Given the description of an element on the screen output the (x, y) to click on. 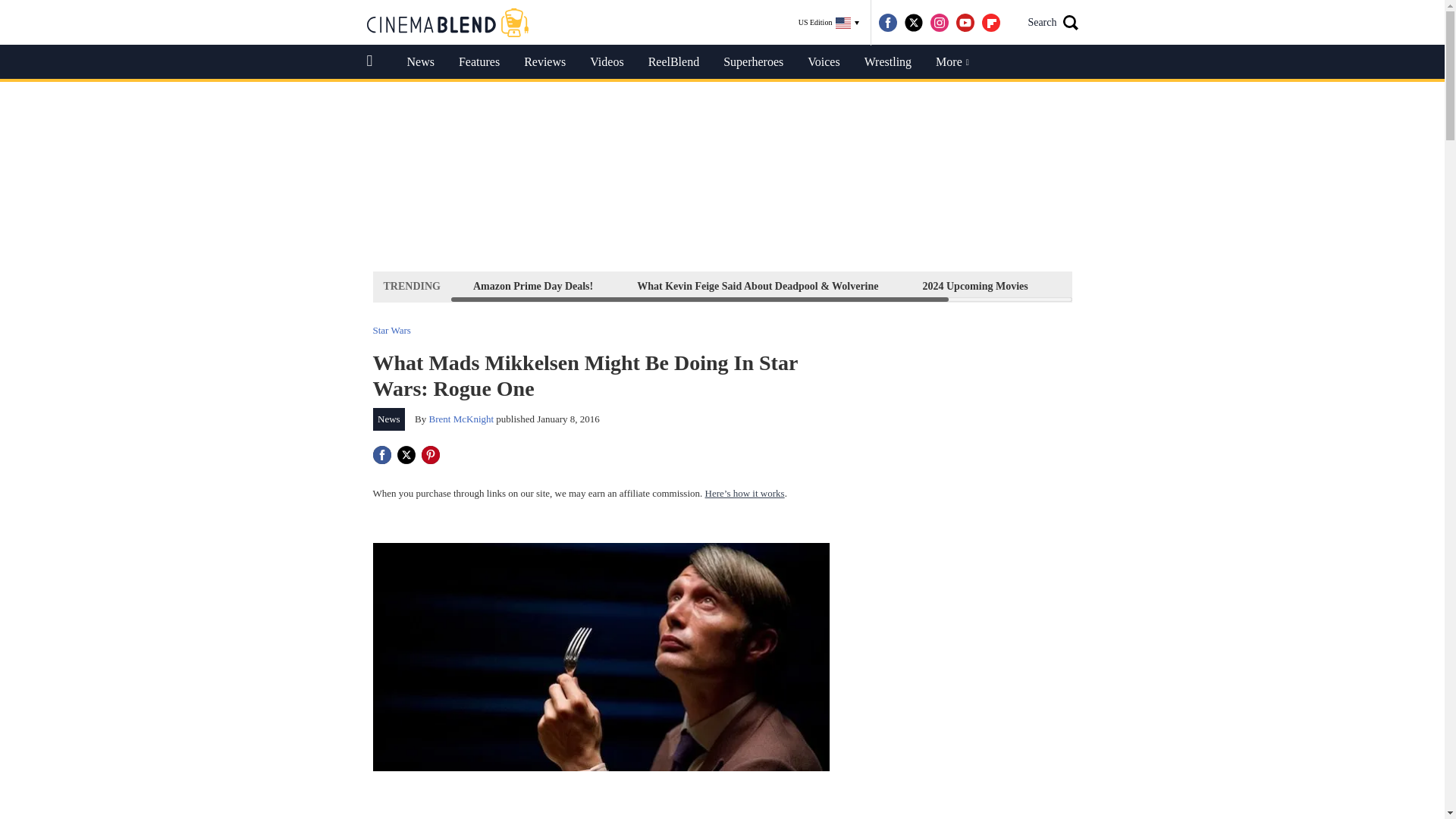
100 Best Sitcoms Of All Time (1138, 286)
News (389, 418)
Superheroes (752, 61)
Amazon Prime Day Deals! (532, 286)
Star Wars (391, 329)
ReelBlend (673, 61)
US Edition (828, 22)
Videos (606, 61)
2024 Upcoming Movies (974, 286)
Reviews (545, 61)
Features (479, 61)
Voices (822, 61)
News (419, 61)
Wrestling (887, 61)
